Given the description of an element on the screen output the (x, y) to click on. 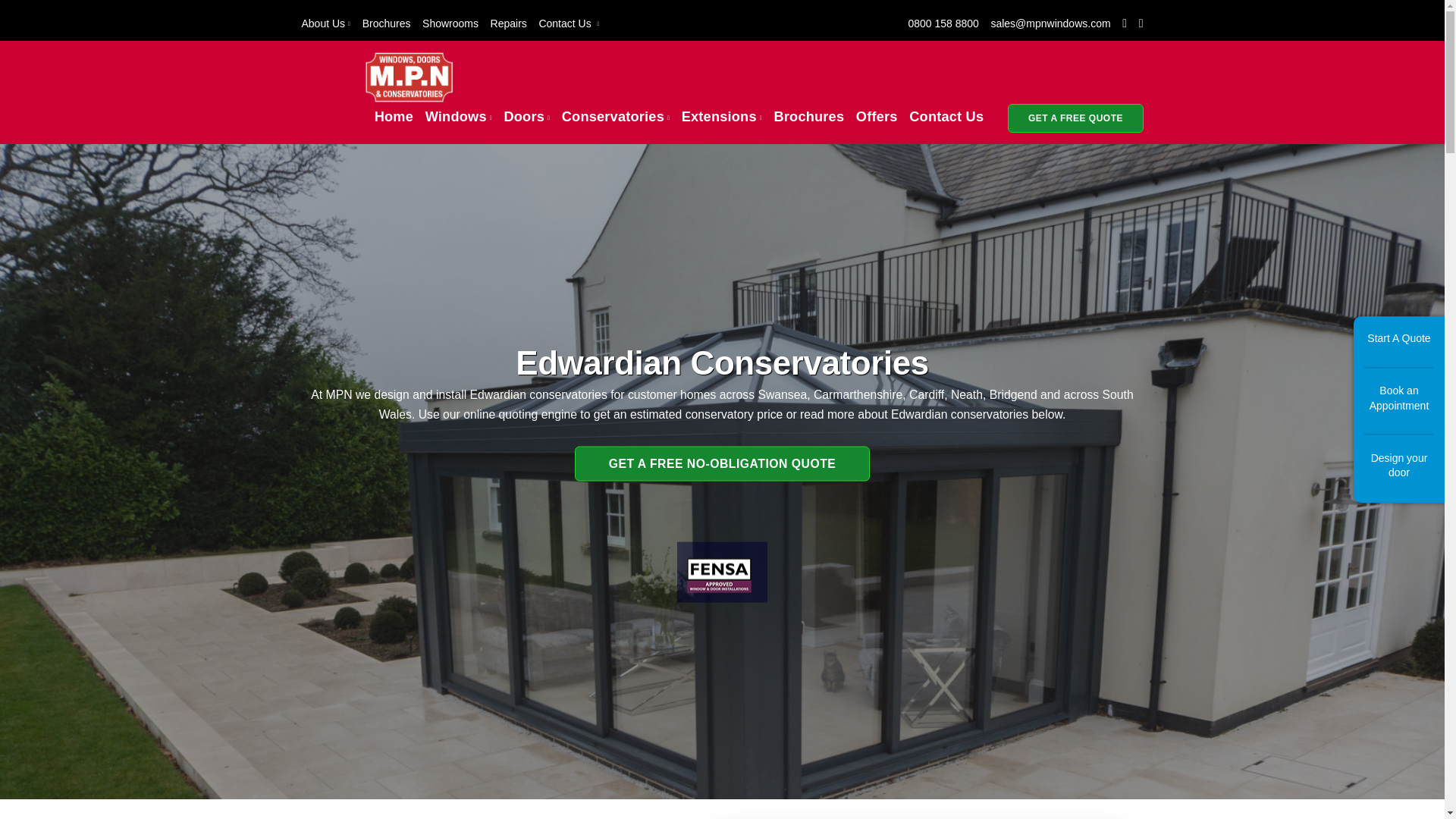
Start A Quote (1399, 347)
0800 158 8800 (942, 23)
Brochures (386, 23)
Showrooms (450, 23)
Design your door (1399, 474)
Book an Appointment (1399, 406)
Home (393, 116)
Repairs (508, 23)
